Given the description of an element on the screen output the (x, y) to click on. 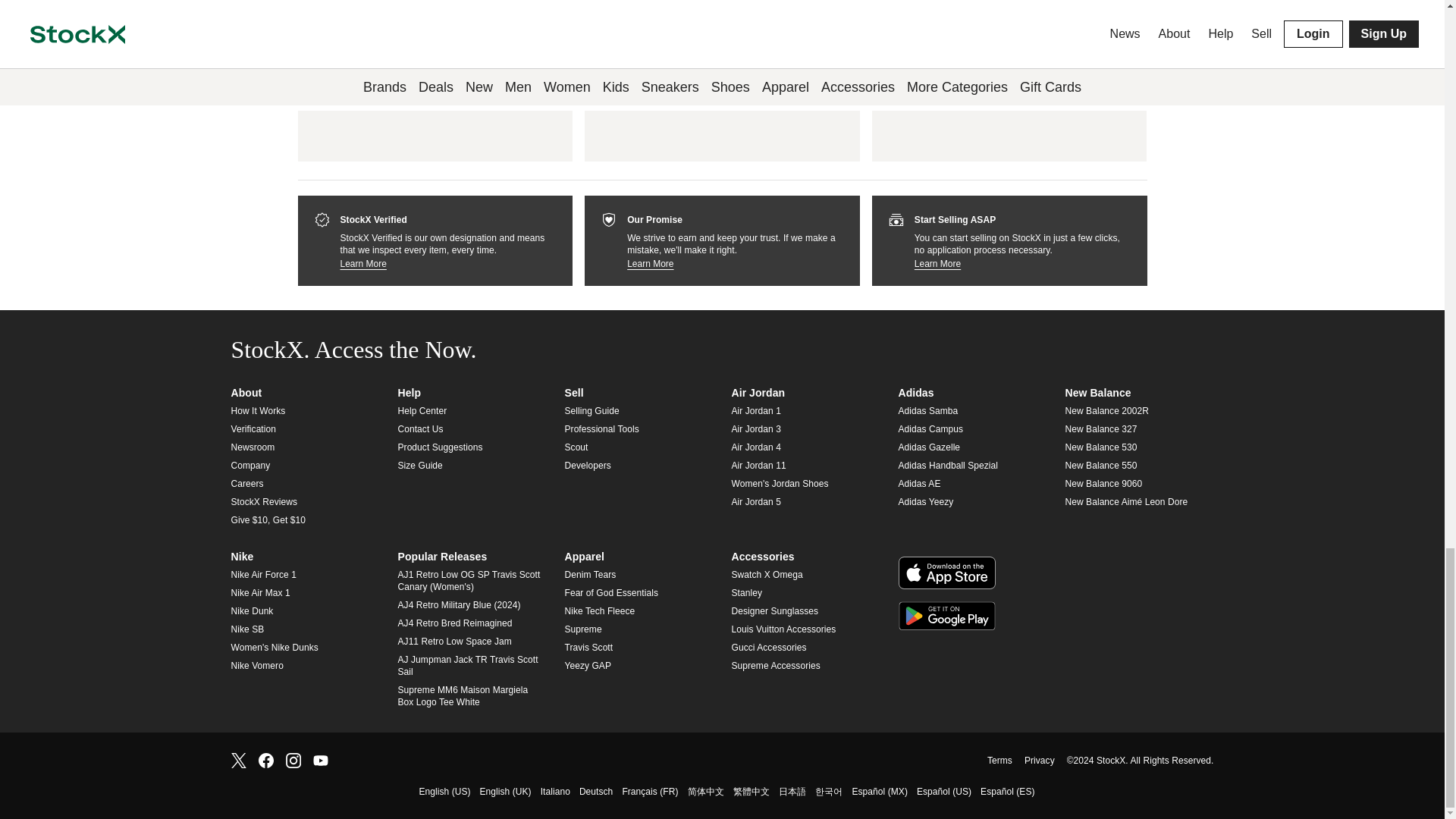
ios (946, 572)
YouTube (320, 758)
Facebook (265, 758)
Twitter (238, 758)
Instagram (292, 758)
android (946, 615)
